Given the description of an element on the screen output the (x, y) to click on. 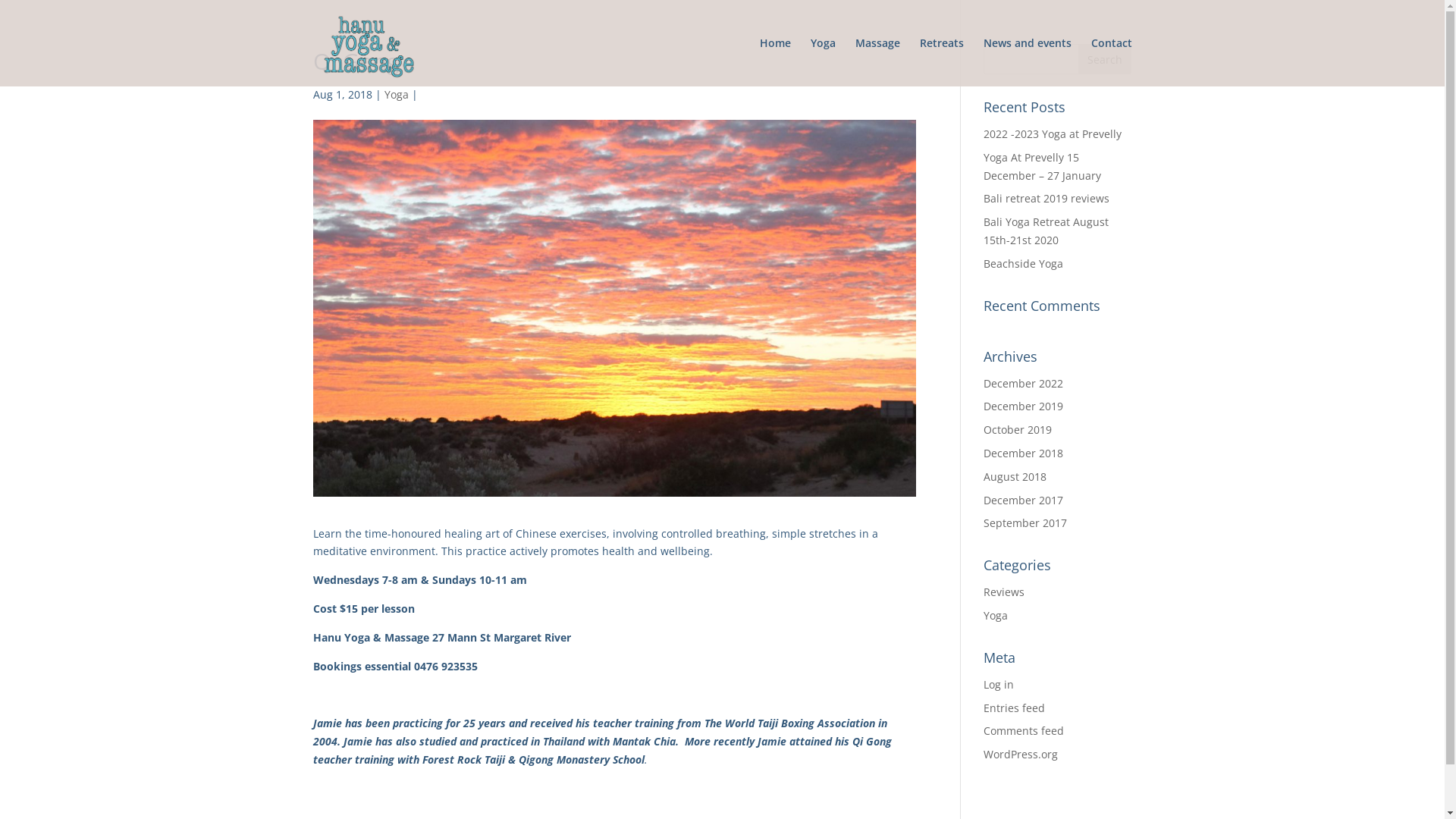
Yoga Element type: text (995, 615)
December 2022 Element type: text (1023, 383)
Reviews Element type: text (1003, 591)
Contact Element type: text (1110, 61)
2022 -2023 Yoga at Prevelly Element type: text (1052, 133)
December 2017 Element type: text (1023, 499)
Bali Yoga Retreat August 15th-21st 2020 Element type: text (1045, 230)
Yoga Element type: text (821, 61)
Yoga Element type: text (395, 94)
October 2019 Element type: text (1017, 429)
Beachside Yoga Element type: text (1023, 263)
Entries feed Element type: text (1013, 707)
August 2018 Element type: text (1014, 476)
December 2019 Element type: text (1023, 405)
Bali retreat 2019 reviews Element type: text (1046, 198)
Home Element type: text (774, 61)
Log in Element type: text (998, 684)
Search Element type: text (1104, 58)
Comments feed Element type: text (1023, 730)
September 2017 Element type: text (1024, 522)
Massage Element type: text (877, 61)
News and events Element type: text (1026, 61)
WordPress.org Element type: text (1020, 753)
Retreats Element type: text (941, 61)
December 2018 Element type: text (1023, 452)
